Given the description of an element on the screen output the (x, y) to click on. 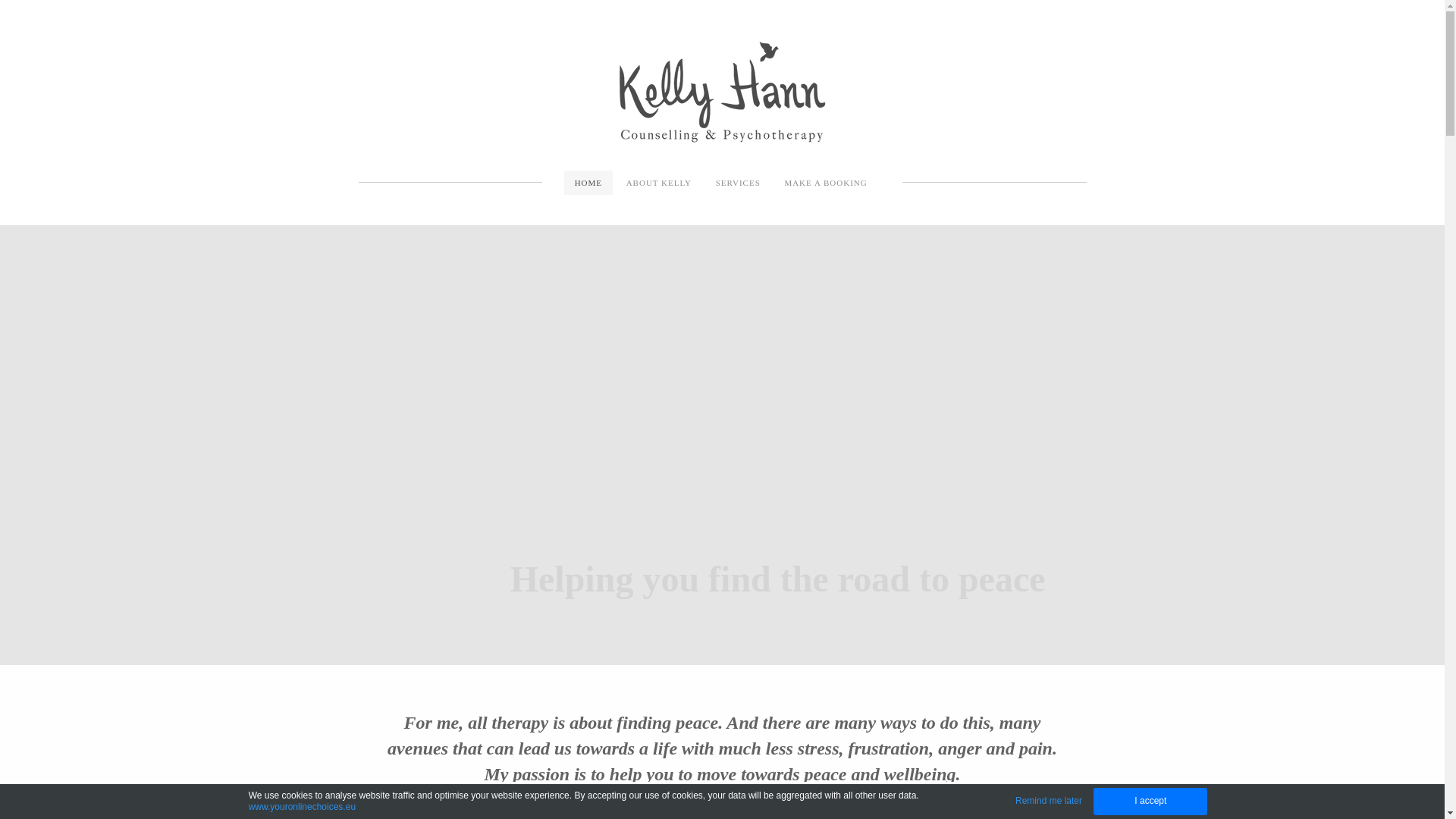
Remind me later Element type: text (1048, 800)
ABOUT KELLY Element type: text (658, 182)
I accept Element type: text (1150, 801)
www.youronlinechoices.eu Element type: text (301, 806)
SERVICES Element type: text (738, 182)
MAKE A BOOKING Element type: text (825, 182)
HOME Element type: text (588, 182)
